Given the description of an element on the screen output the (x, y) to click on. 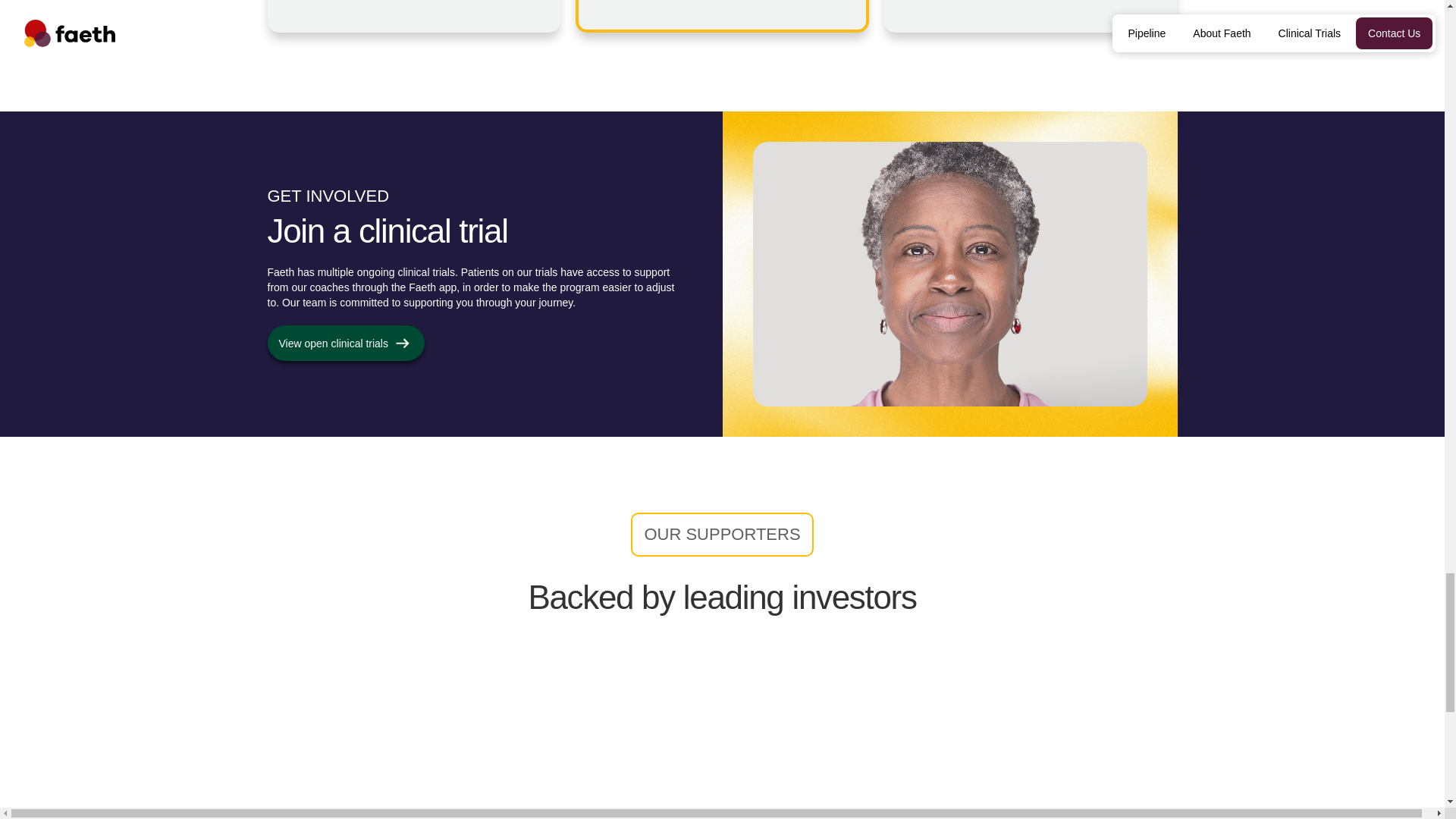
View open clinical trials (344, 343)
